Given the description of an element on the screen output the (x, y) to click on. 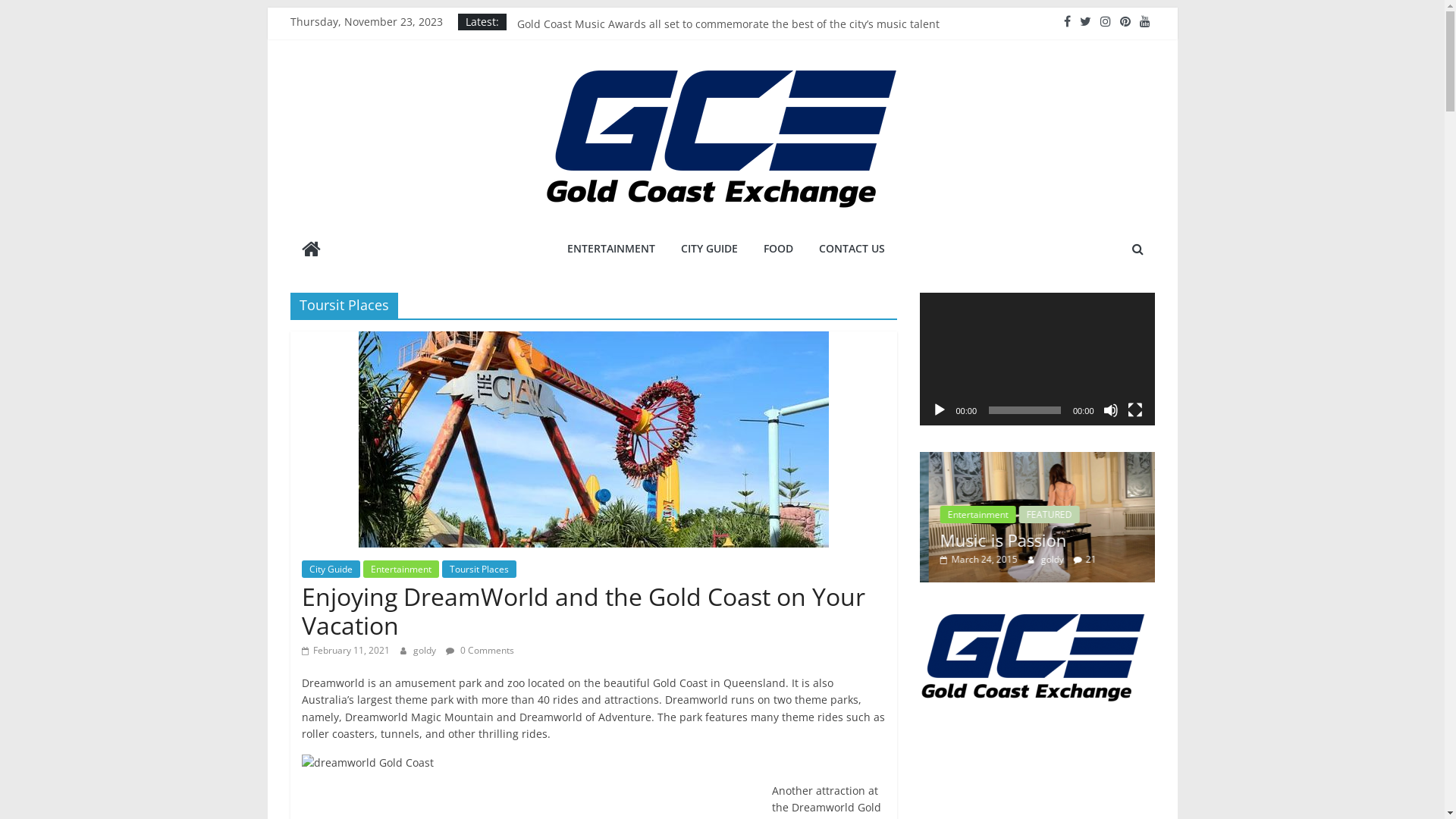
FOOD Element type: text (778, 249)
Music is Passion Element type: hover (1065, 516)
Enjoying DreamWorld and the Gold Coast on Your Vacation Element type: hover (592, 340)
Toursit Places Element type: text (478, 568)
Kayaking: Adventurous Sport Element type: hover (845, 516)
February 11, 2021 Element type: text (345, 649)
Play Element type: hover (938, 409)
Gold Coast Shoots and Scores as Host for the NBL Blitz Element type: text (655, 25)
0 Comments Element type: text (479, 649)
Mute Element type: hover (1109, 409)
FEATURED Element type: text (961, 494)
ENTERTAINMENT Element type: text (610, 249)
CITY GUIDE Element type: text (709, 249)
CONTACT US Element type: text (851, 249)
Enjoying DreamWorld and the Gold Coast on Your Vacation Element type: text (583, 610)
Skip to content Element type: text (266, 6)
General Element type: text (1019, 494)
Sports Element type: text (1068, 494)
0 Element type: text (1079, 558)
goldy Element type: text (1044, 558)
Kayaking: Adventurous Sport Element type: text (1020, 529)
Music is Passion Element type: hover (1069, 459)
Entertainment Element type: text (400, 568)
March 20, 2015 Element type: text (969, 558)
City Guide Element type: text (330, 568)
goldy Element type: text (424, 649)
Kayaking: Adventurous Sport Element type: hover (848, 459)
Gold Coast Exchange Element type: text (367, 277)
Fullscreen Element type: hover (1134, 409)
Gold Coast Exchange Element type: hover (310, 250)
